Given the description of an element on the screen output the (x, y) to click on. 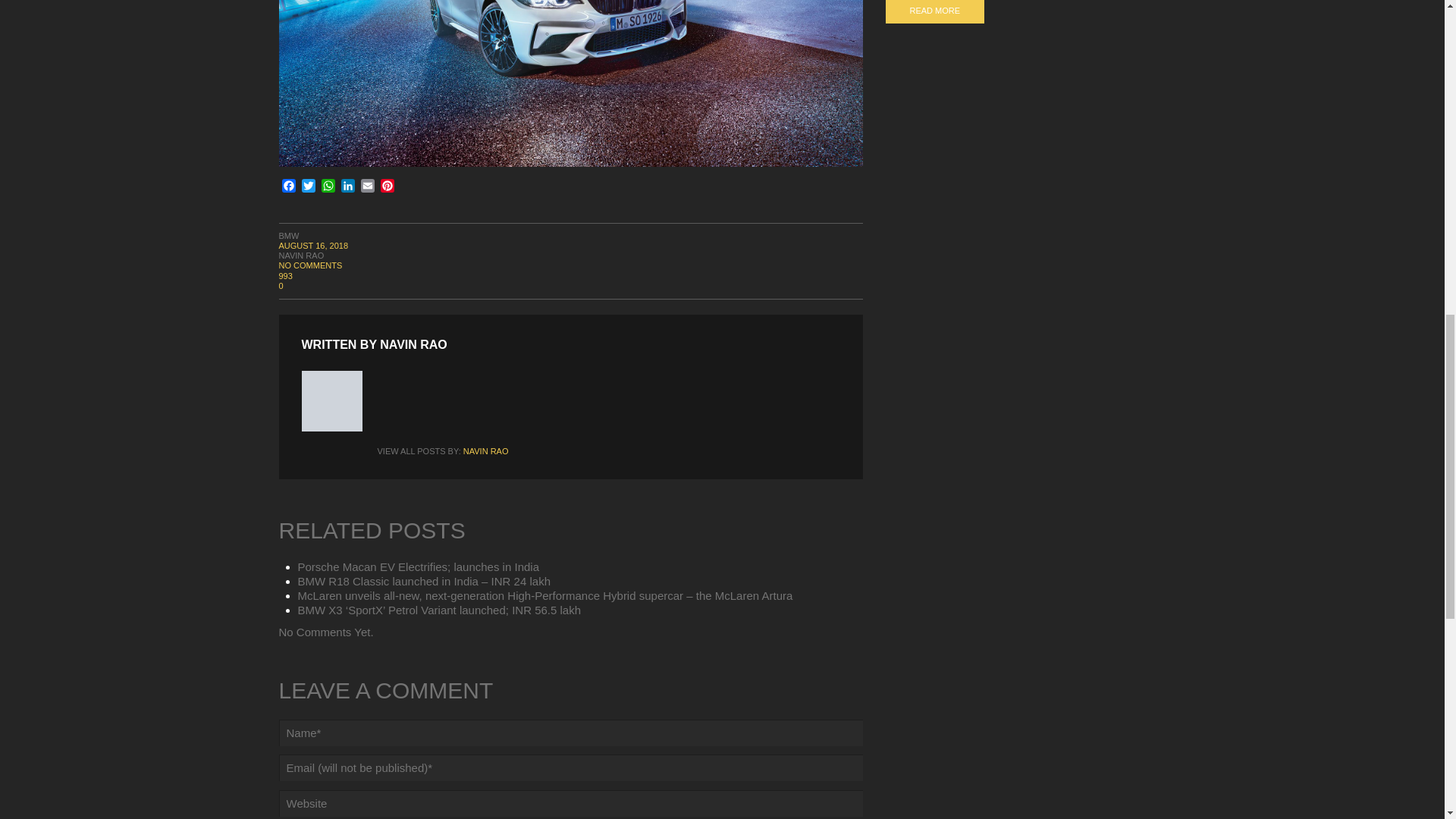
NAVIN RAO (413, 344)
NAVIN RAO (485, 450)
Website (571, 803)
0 (571, 286)
Posts by Navin Rao (301, 255)
Pinterest (387, 187)
Facebook (288, 187)
WhatsApp (327, 187)
LinkedIn (347, 187)
Pinterest (387, 187)
Posts by Navin Rao (413, 344)
LinkedIn (347, 187)
Twitter (308, 187)
Posts by Navin Rao (485, 450)
WhatsApp (327, 187)
